Given the description of an element on the screen output the (x, y) to click on. 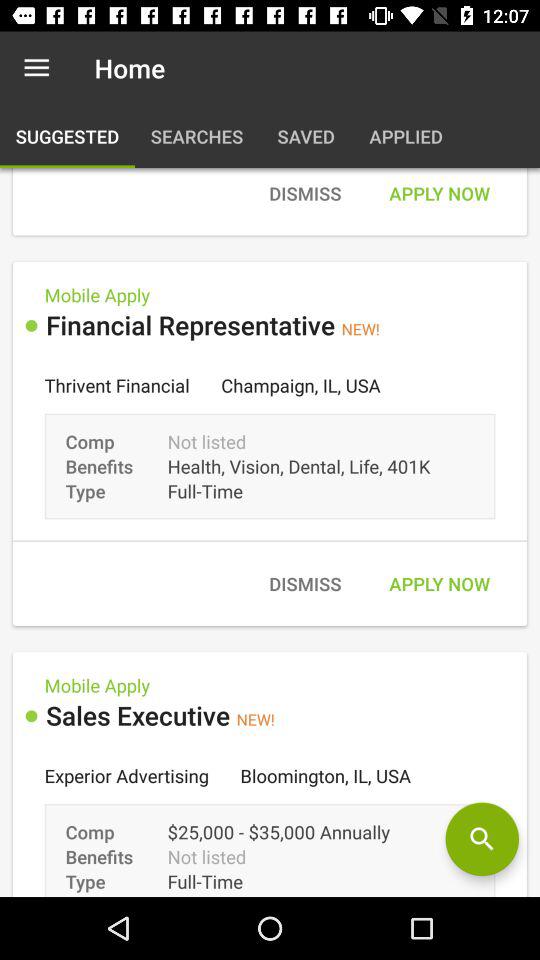
click icon at the bottom right corner (482, 839)
